Given the description of an element on the screen output the (x, y) to click on. 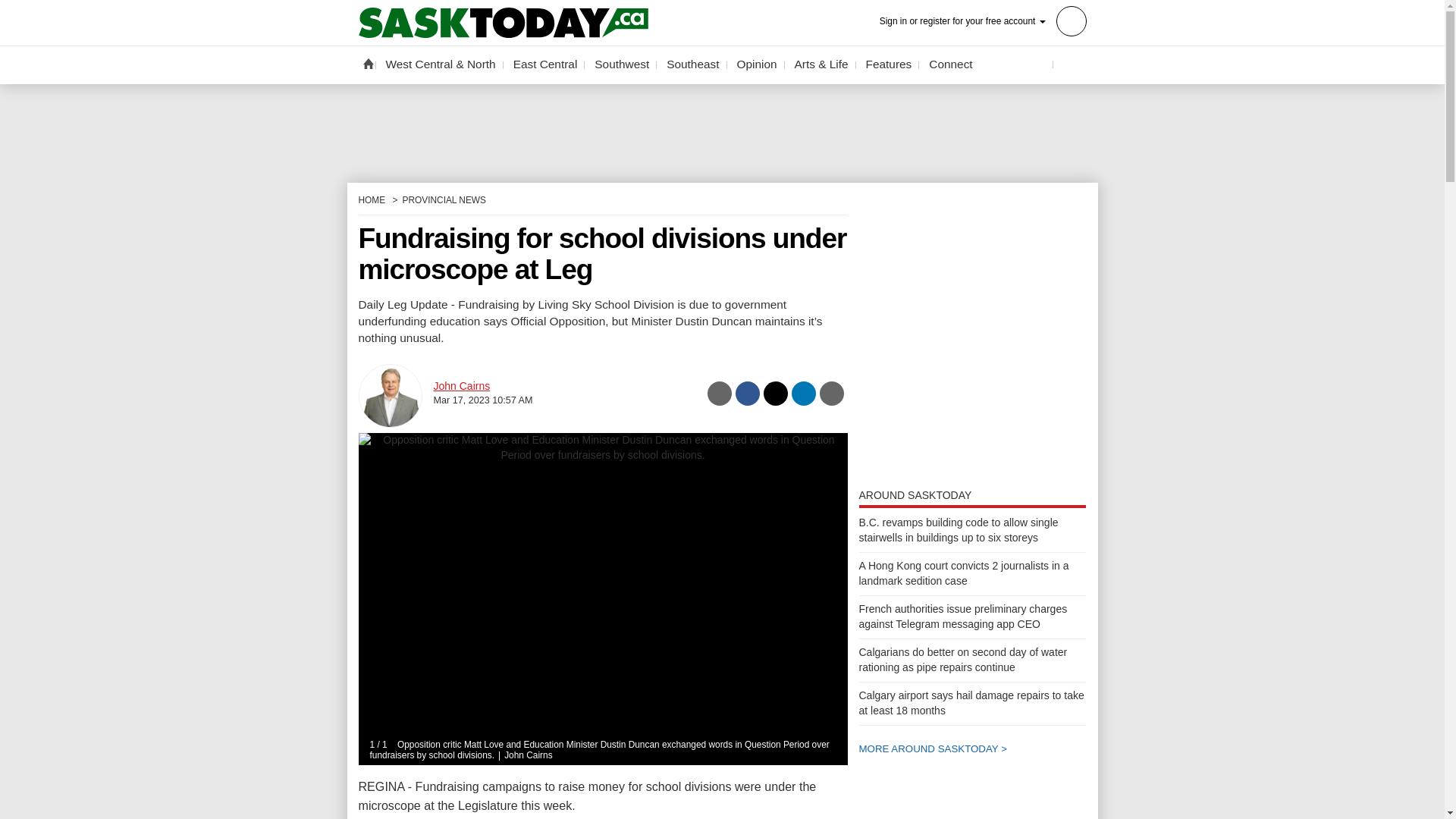
Home (367, 63)
East Central (545, 64)
Sign in or register for your free account (982, 20)
Southwest (622, 64)
